Given the description of an element on the screen output the (x, y) to click on. 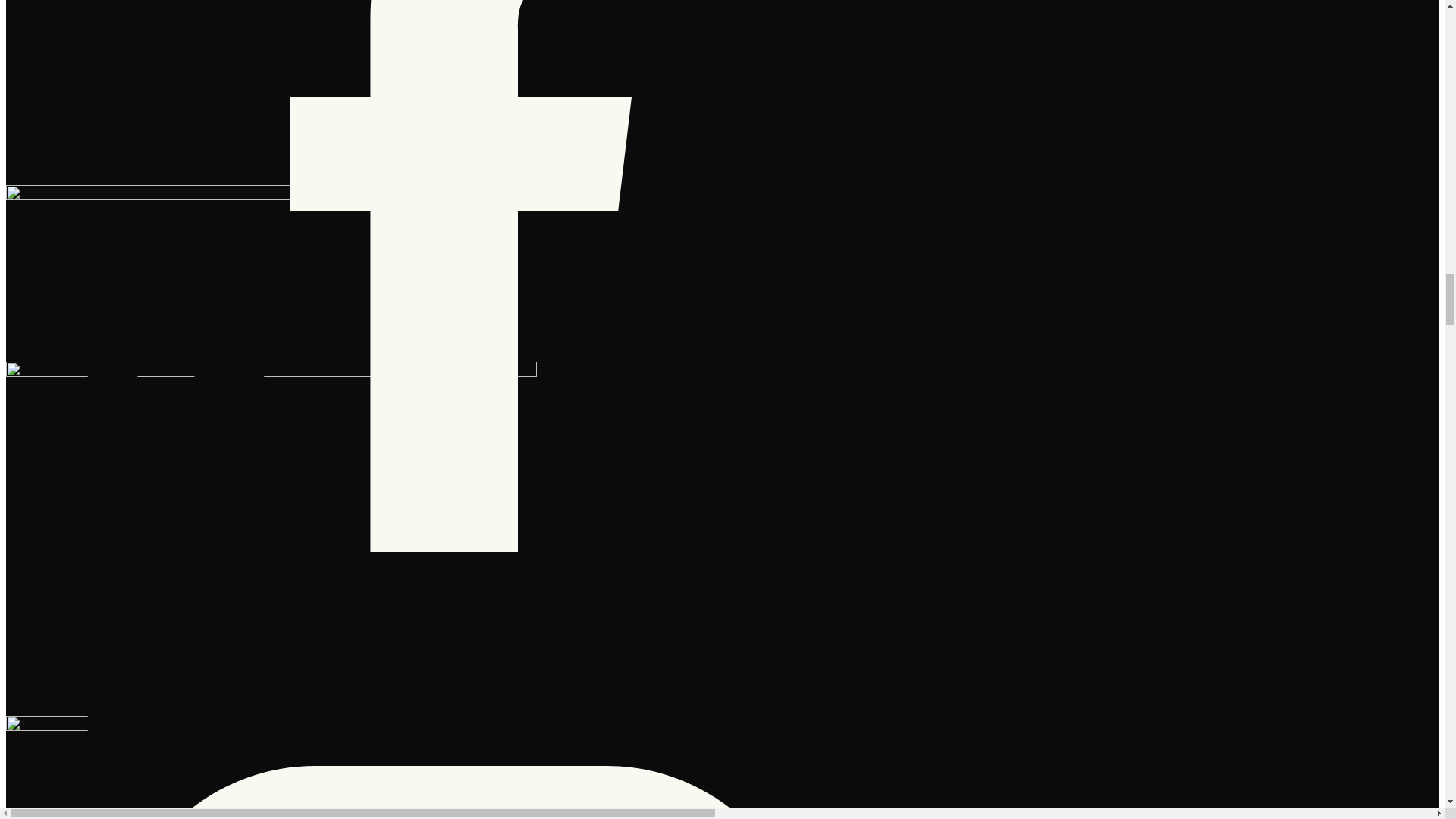
144 (271, 273)
140 (271, 92)
200 (271, 767)
